Given the description of an element on the screen output the (x, y) to click on. 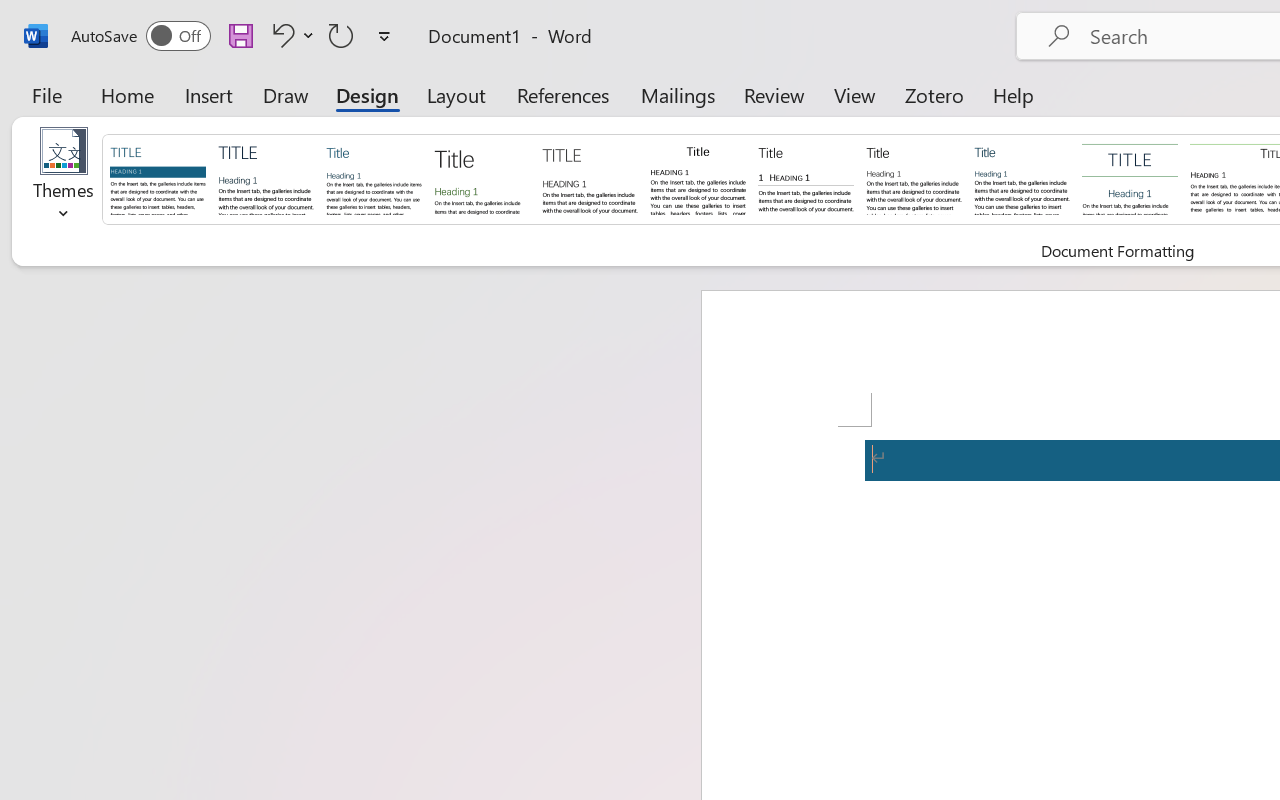
What's New (156, 22)
